Given the description of an element on the screen output the (x, y) to click on. 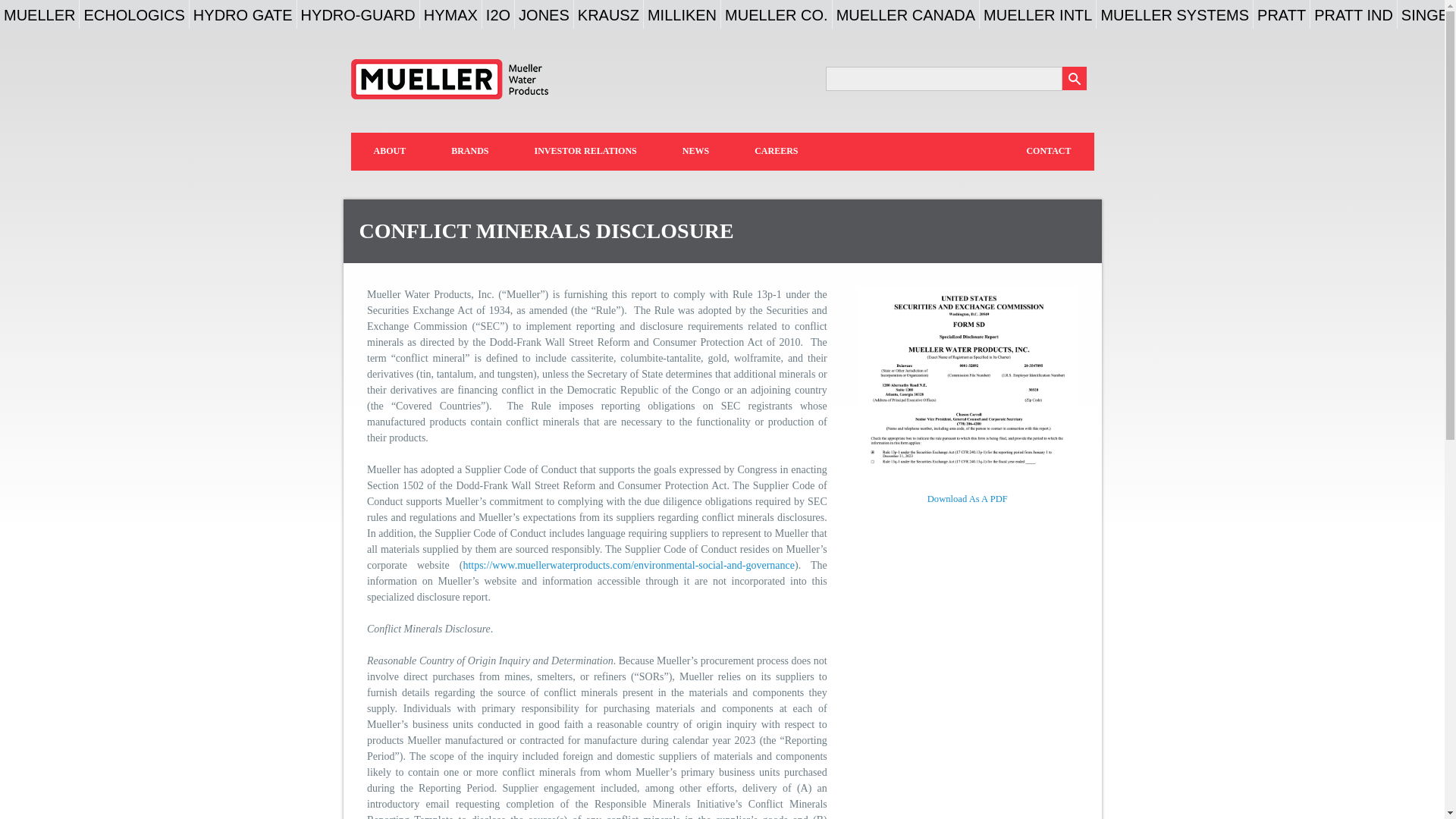
ABOUT (389, 151)
CAREERS (776, 151)
Search (1073, 78)
Mueller Water Products (448, 78)
INVESTOR RELATIONS (585, 151)
BRANDS (469, 151)
Enter the terms you wish to search for. (943, 78)
Download As A PDF (967, 498)
NEWS (695, 151)
